Given the description of an element on the screen output the (x, y) to click on. 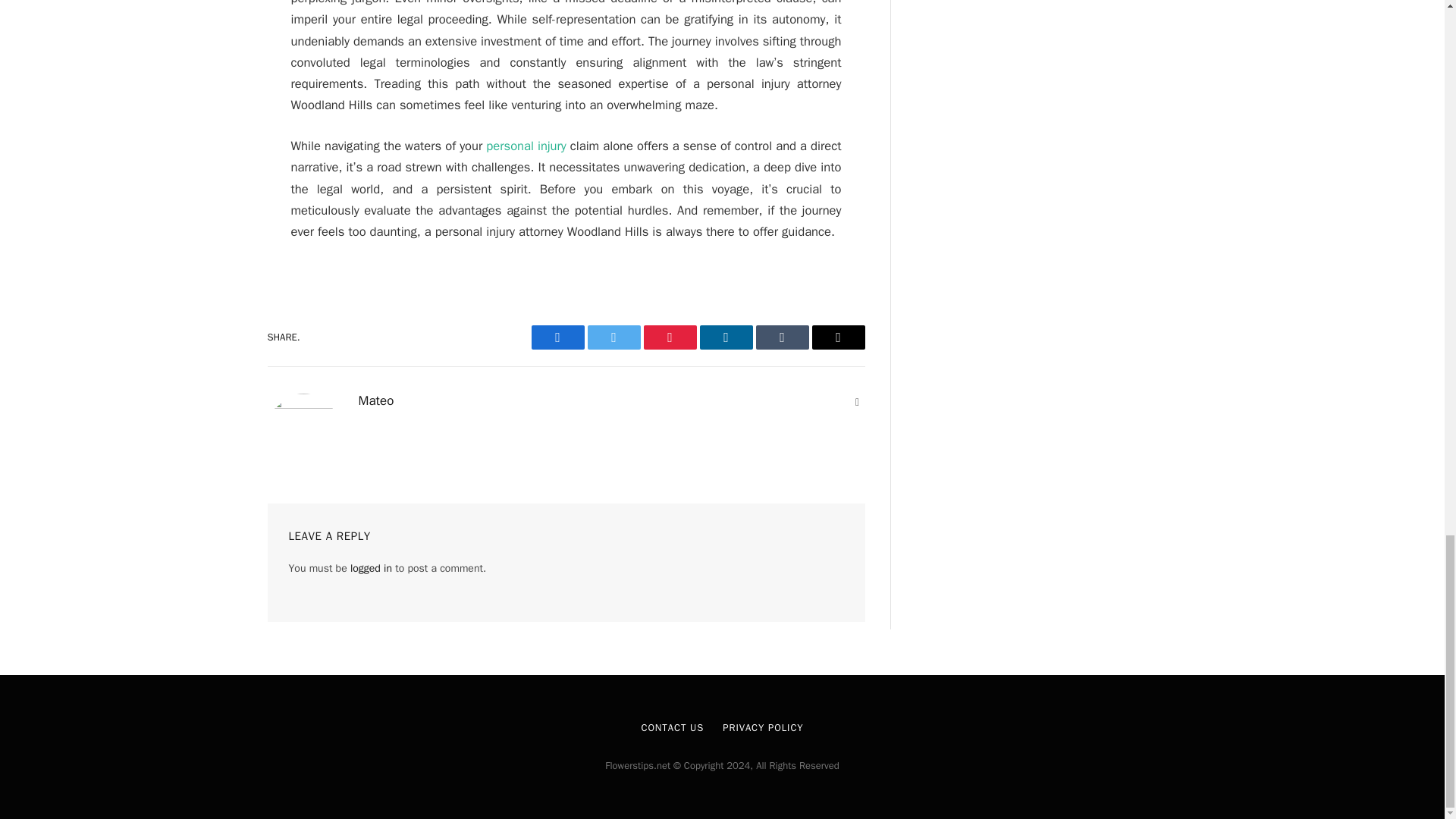
Twitter (613, 337)
CONTACT US (671, 727)
logged in (370, 567)
PRIVACY POLICY (762, 727)
Email (837, 337)
Share on Facebook (557, 337)
Mateo (375, 400)
Pinterest (669, 337)
Website (856, 402)
Tumblr (781, 337)
Facebook (557, 337)
LinkedIn (725, 337)
personal injury (526, 145)
